Given the description of an element on the screen output the (x, y) to click on. 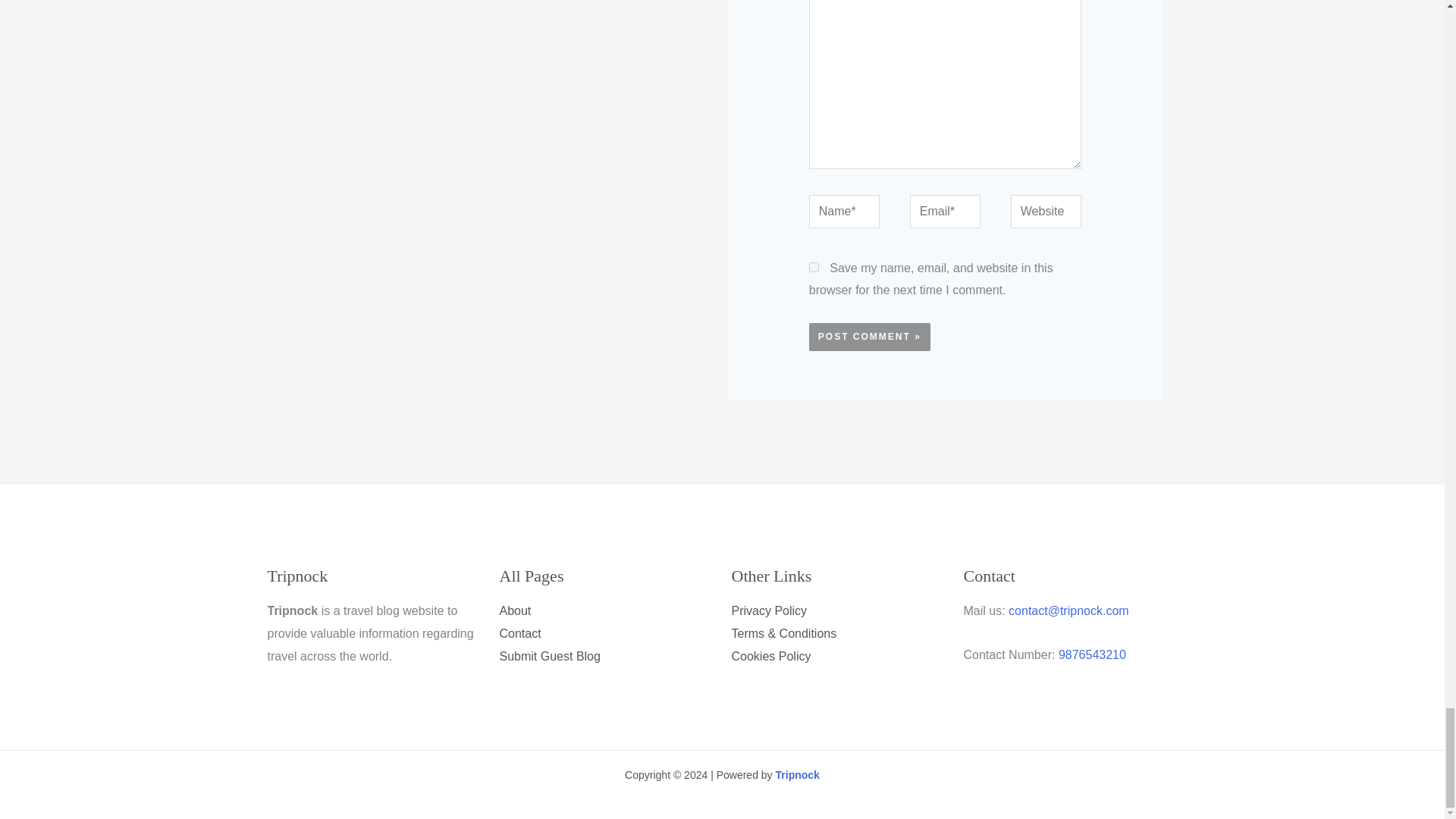
yes (813, 266)
